Given the description of an element on the screen output the (x, y) to click on. 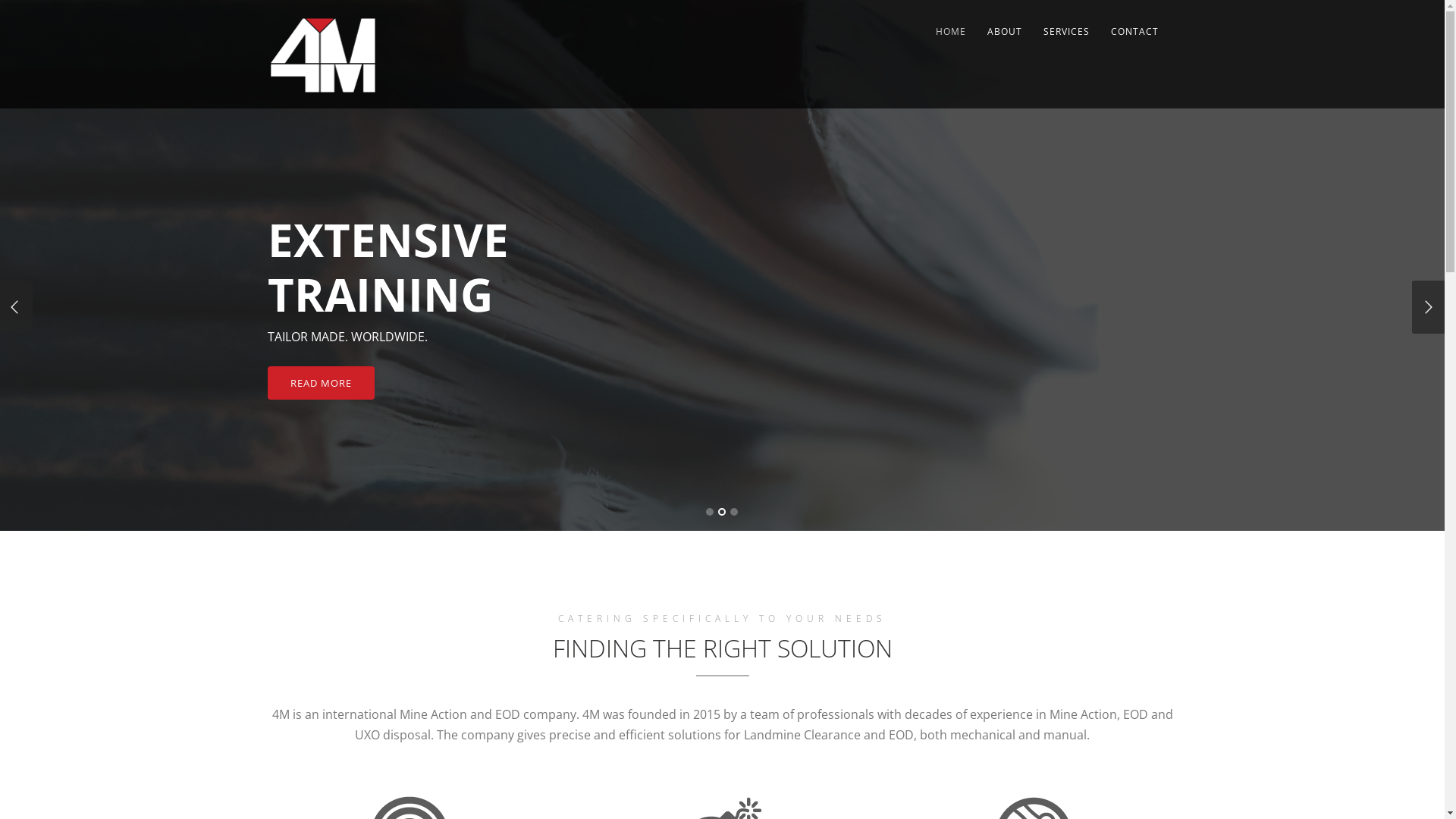
HOME Element type: text (950, 31)
READ MORE Element type: text (319, 382)
SERVICES Element type: text (1066, 31)
ABOUT Element type: text (1004, 31)
CONTACT Element type: text (1133, 31)
